Given the description of an element on the screen output the (x, y) to click on. 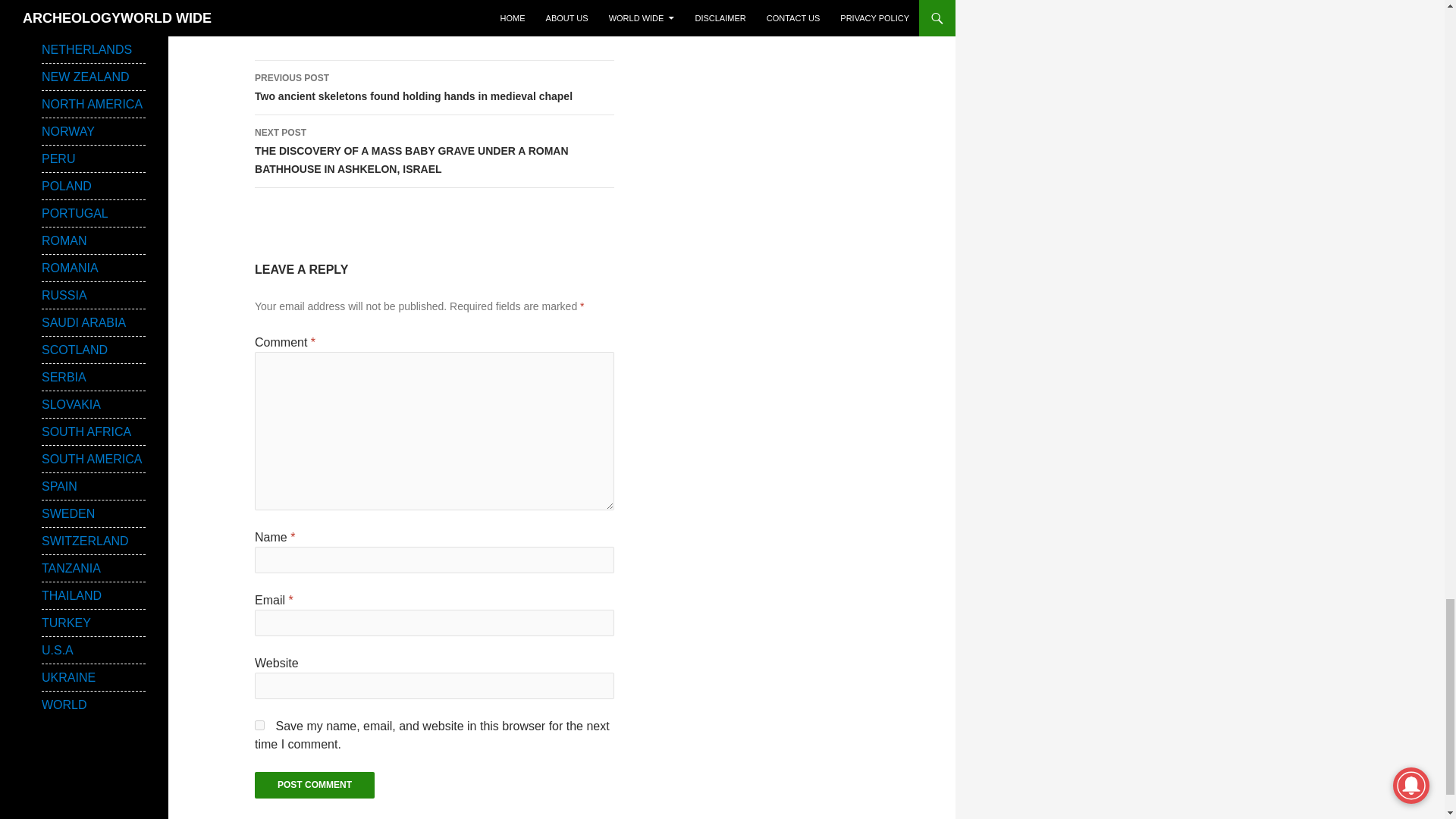
yes (259, 725)
Post Comment (314, 785)
